Given the description of an element on the screen output the (x, y) to click on. 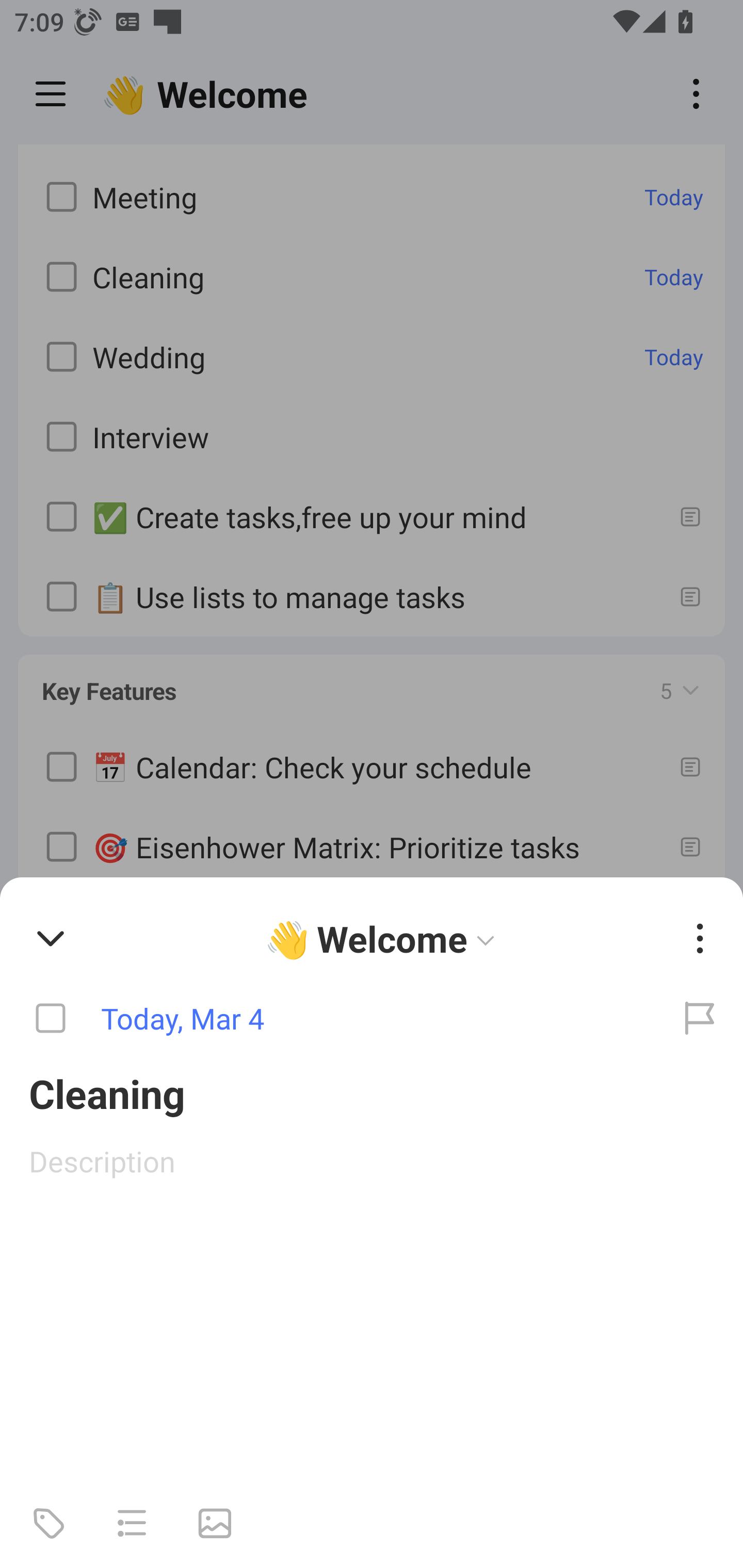
👋 Welcome (384, 938)
Today, Mar 4  (328, 1019)
Cleaning (371, 1092)
Description (371, 1160)
